Given the description of an element on the screen output the (x, y) to click on. 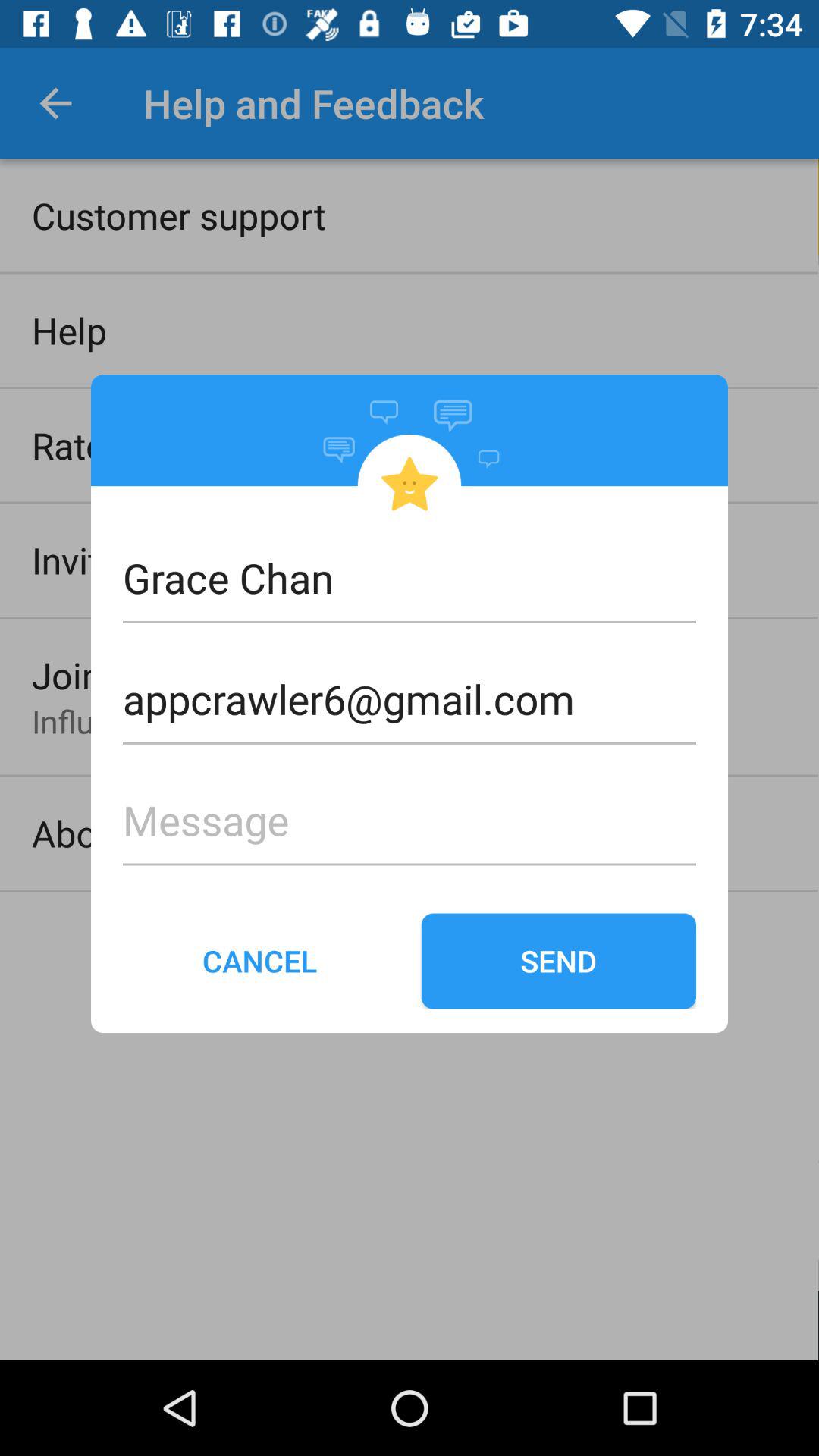
turn off the icon to the right of the cancel icon (558, 960)
